Given the description of an element on the screen output the (x, y) to click on. 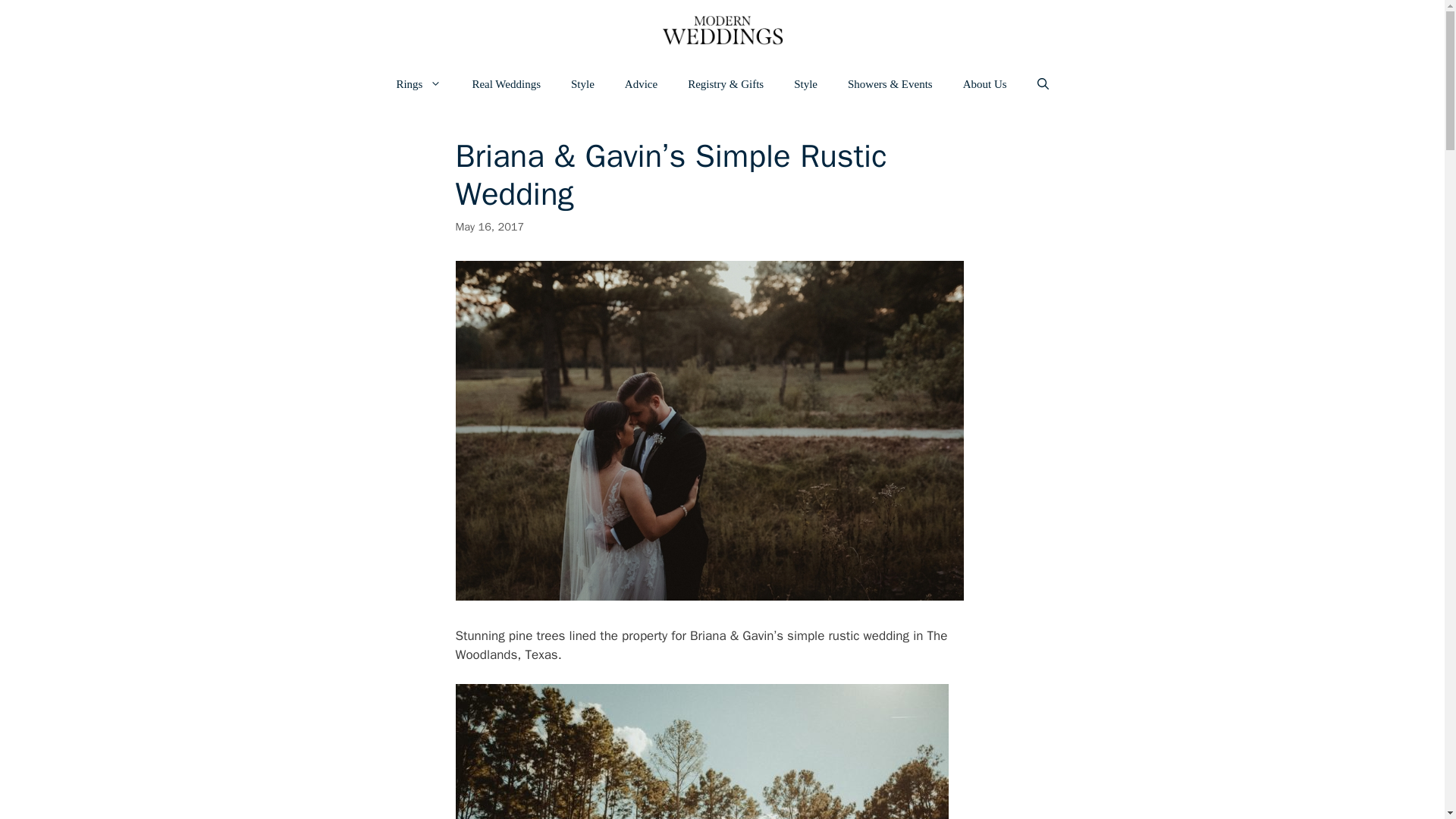
Advice (641, 84)
Style (805, 84)
About Us (984, 84)
Rings (418, 84)
Real Weddings (506, 84)
Style (583, 84)
